Given the description of an element on the screen output the (x, y) to click on. 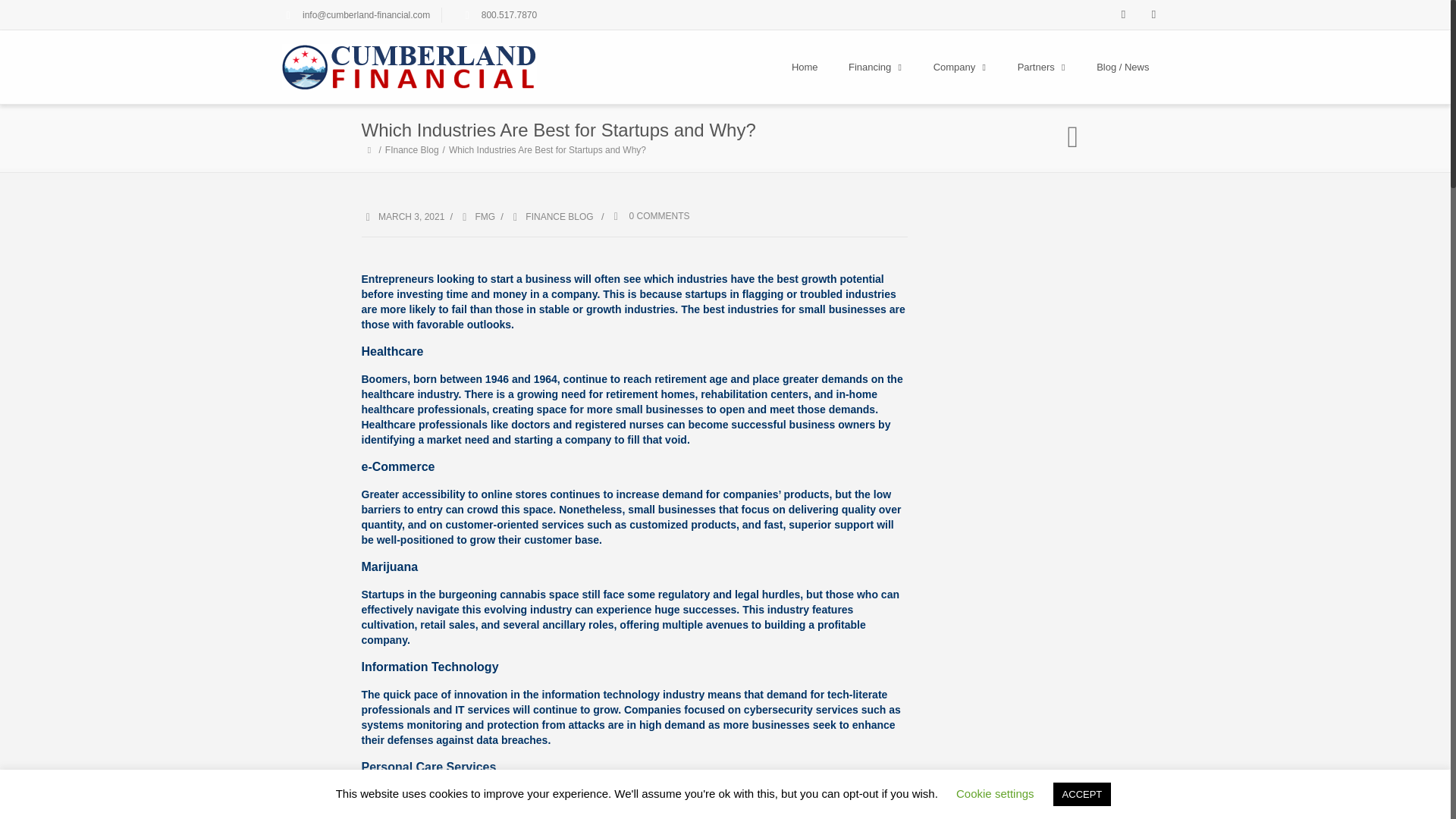
Company (960, 67)
View all posts in FInance Blog (551, 216)
FInance Blog (413, 149)
Cumberland Financial (409, 67)
800.517.7870 (509, 14)
Posts by FMG (484, 216)
Financing (875, 67)
